Given the description of an element on the screen output the (x, y) to click on. 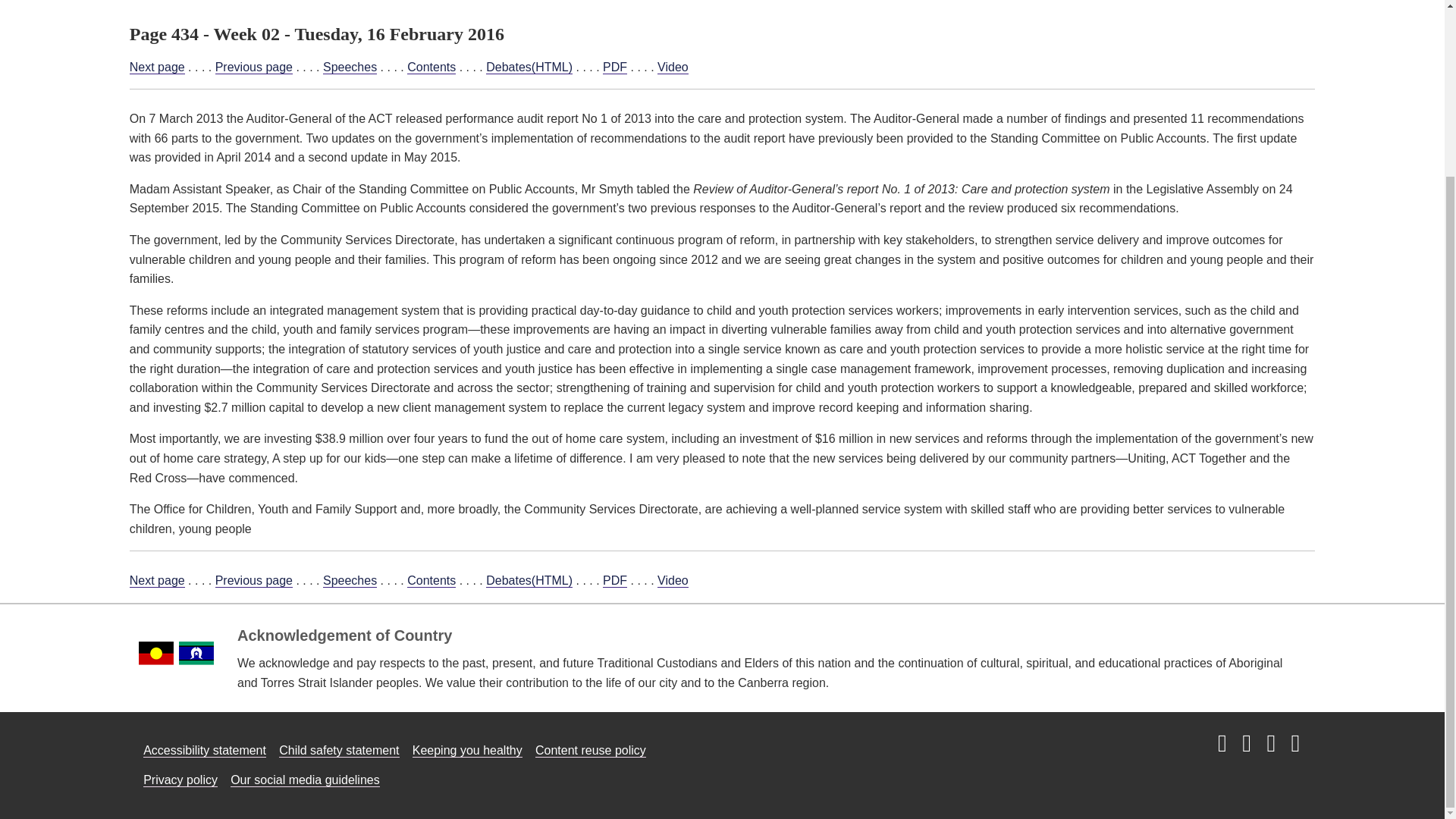
Speeches (350, 67)
Read our social media guidelines (305, 780)
Next page (156, 67)
Read our privacy policy (179, 780)
Next page (156, 581)
PDF (614, 581)
Video (673, 581)
Content reuse policy (590, 750)
Read about how we're keeping our Assembly healthy (467, 750)
PDF (614, 67)
